Given the description of an element on the screen output the (x, y) to click on. 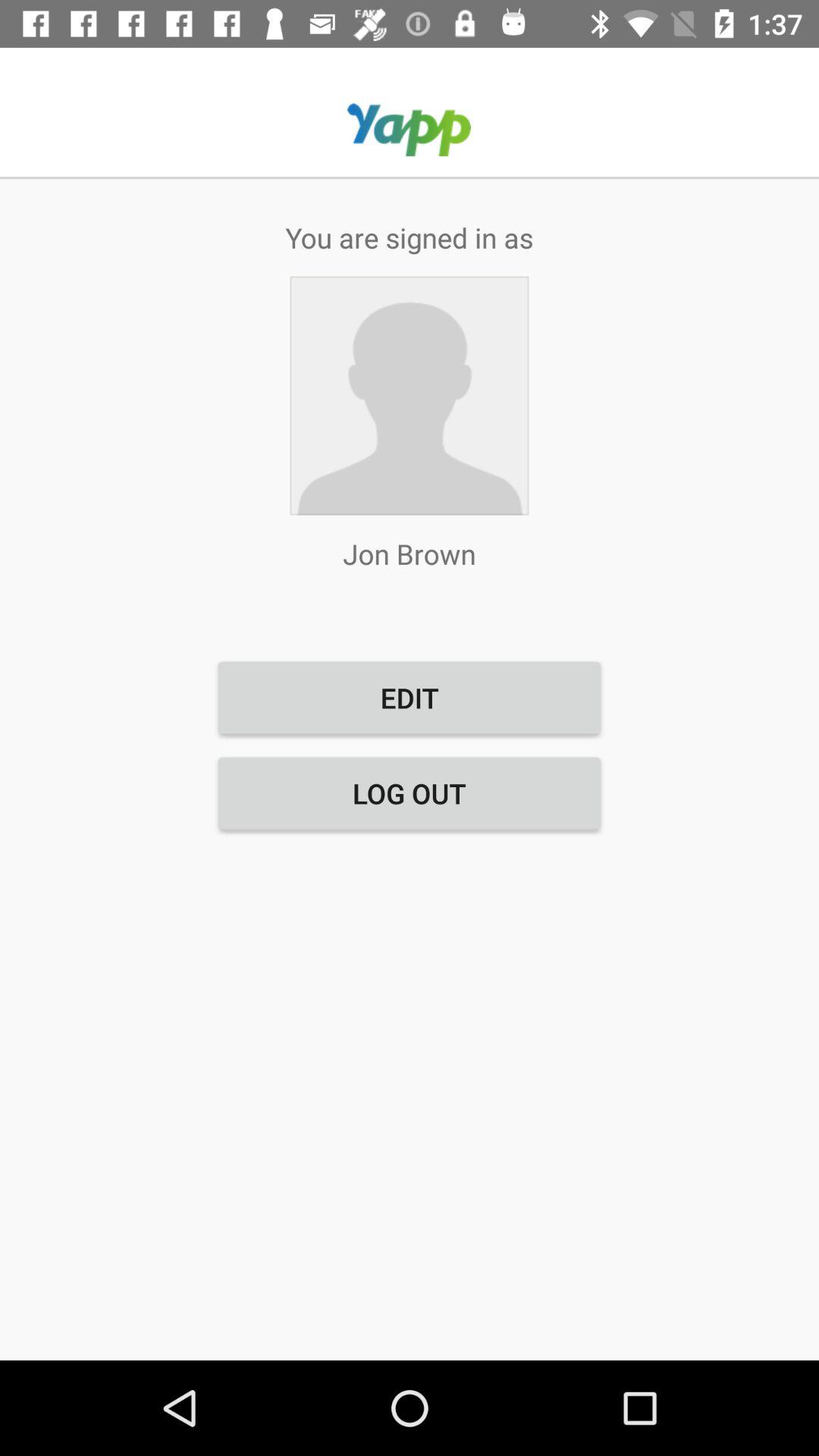
tap the button below edit item (409, 793)
